Given the description of an element on the screen output the (x, y) to click on. 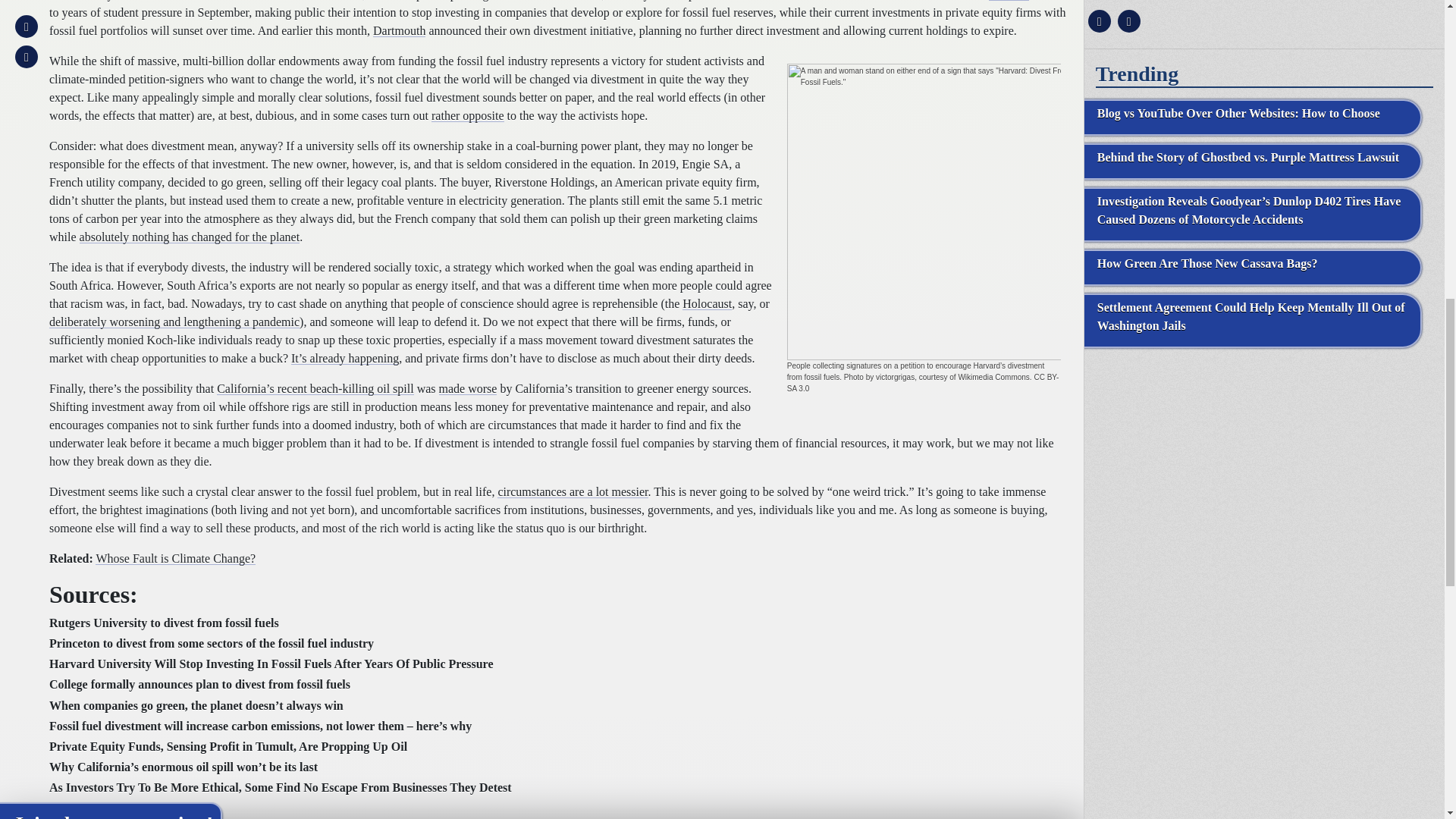
Dartmouth (398, 30)
absolutely nothing has changed for the planet (189, 236)
Holocaust (707, 303)
College formally announces plan to divest from fossil fuels (199, 684)
circumstances are a lot messier (572, 491)
Whose Fault is Climate Change? (176, 558)
deliberately worsening and lengthening a pandemic (174, 321)
rather opposite (466, 115)
made worse (468, 388)
Rutgers University to divest from fossil fuels (164, 622)
